Given the description of an element on the screen output the (x, y) to click on. 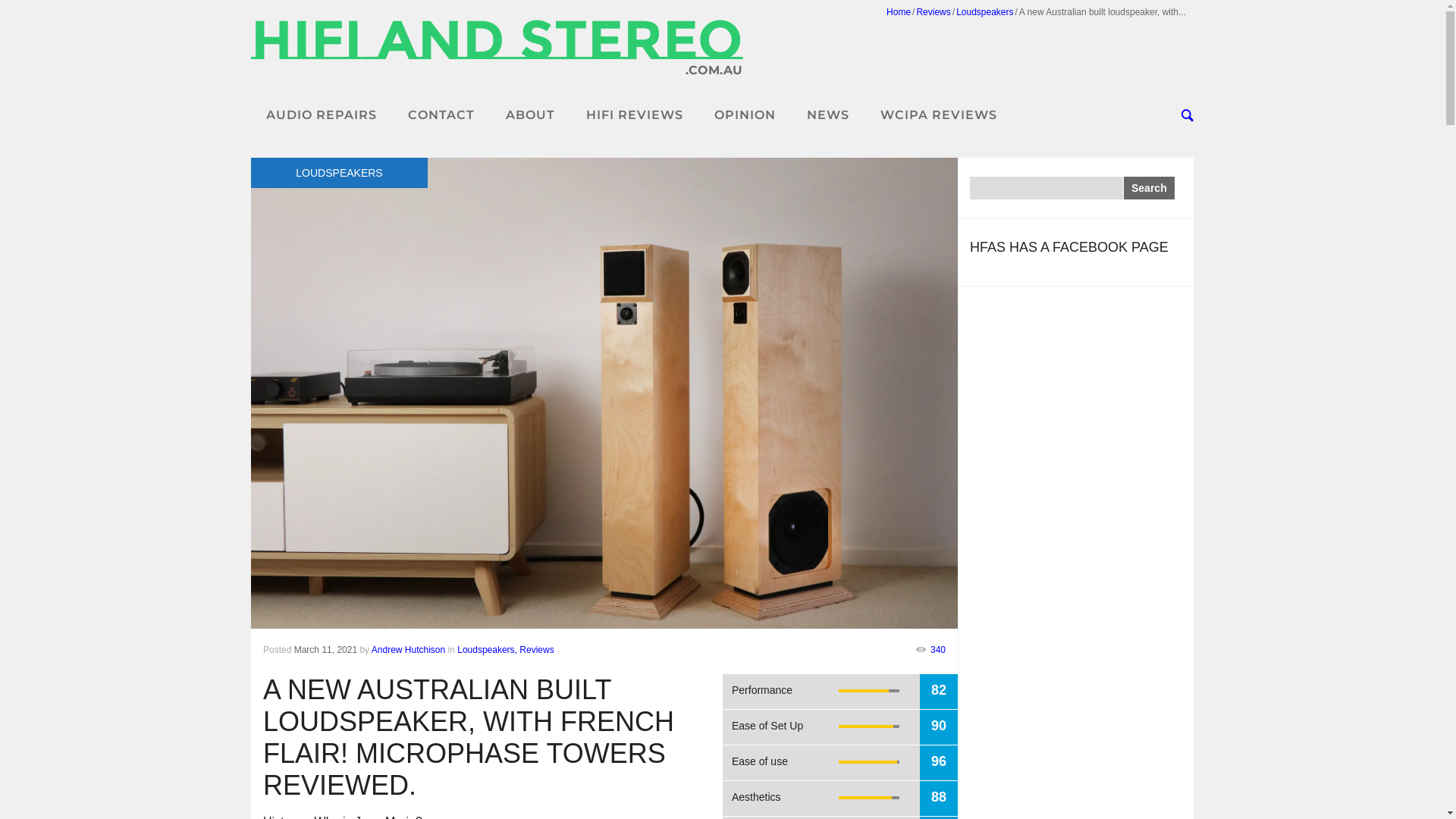
CONTACT Element type: text (440, 114)
Reviews Element type: text (536, 649)
HIFI AND STEREO
.COM.AU Element type: text (496, 58)
AUDIO REPAIRS Element type: text (321, 114)
Loudspeakers Element type: text (984, 11)
Andrew Hutchison Element type: text (408, 649)
NEWS Element type: text (827, 114)
Reviews Element type: text (933, 11)
HIFI REVIEWS Element type: text (634, 114)
340 Element type: text (930, 649)
Home Element type: text (898, 11)
ABOUT Element type: text (530, 114)
OPINION Element type: text (744, 114)
WCIPA REVIEWS Element type: text (938, 114)
Search Element type: text (1148, 187)
Loudspeakers, Element type: text (487, 649)
